Given the description of an element on the screen output the (x, y) to click on. 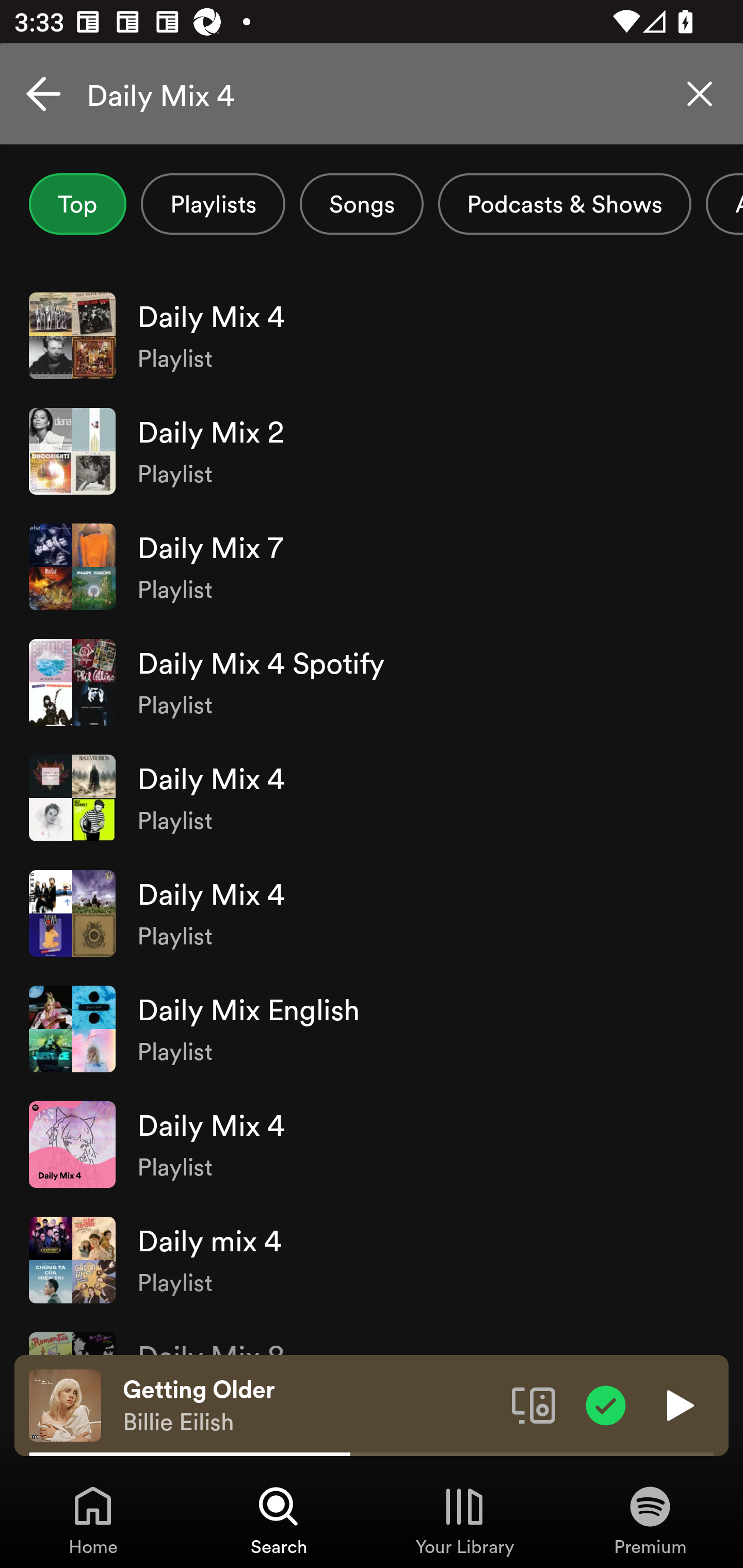
Daily Mix 4 (371, 93)
Cancel (43, 93)
Clear search query (699, 93)
Top (77, 203)
Playlists (213, 203)
Songs (361, 203)
Podcasts & Shows (564, 203)
Daily Mix 4 Playlist (371, 335)
Daily Mix 2 Playlist (371, 451)
Daily Mix 7 Playlist (371, 566)
Daily Mix 4 Spotify Playlist (371, 682)
Daily Mix 4 Playlist (371, 798)
Daily Mix 4 Playlist (371, 913)
Daily Mix English Playlist (371, 1028)
Daily Mix 4 Playlist (371, 1144)
Daily mix 4 Playlist (371, 1259)
Getting Older Billie Eilish (309, 1405)
The cover art of the currently playing track (64, 1404)
Connect to a device. Opens the devices menu (533, 1404)
